Given the description of an element on the screen output the (x, y) to click on. 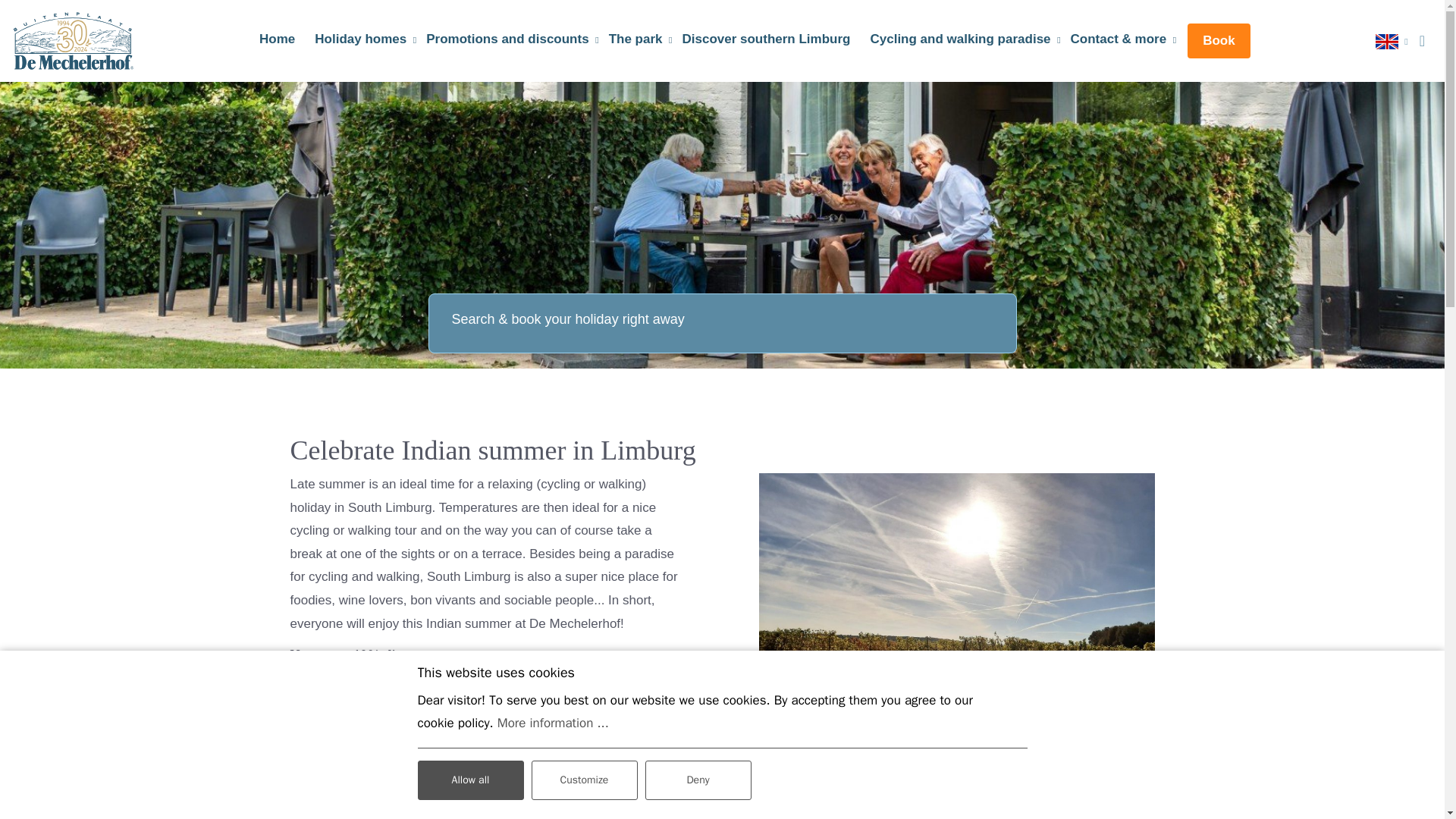
mechelerhof (72, 40)
Home (277, 39)
Book now with a discount in September (340, 741)
The park (635, 39)
Discover southern Limburg (765, 39)
Promotions and discounts (507, 39)
Cycling and walking paradise (960, 39)
Holiday homes (360, 39)
Book now (340, 741)
Book (1219, 40)
